Given the description of an element on the screen output the (x, y) to click on. 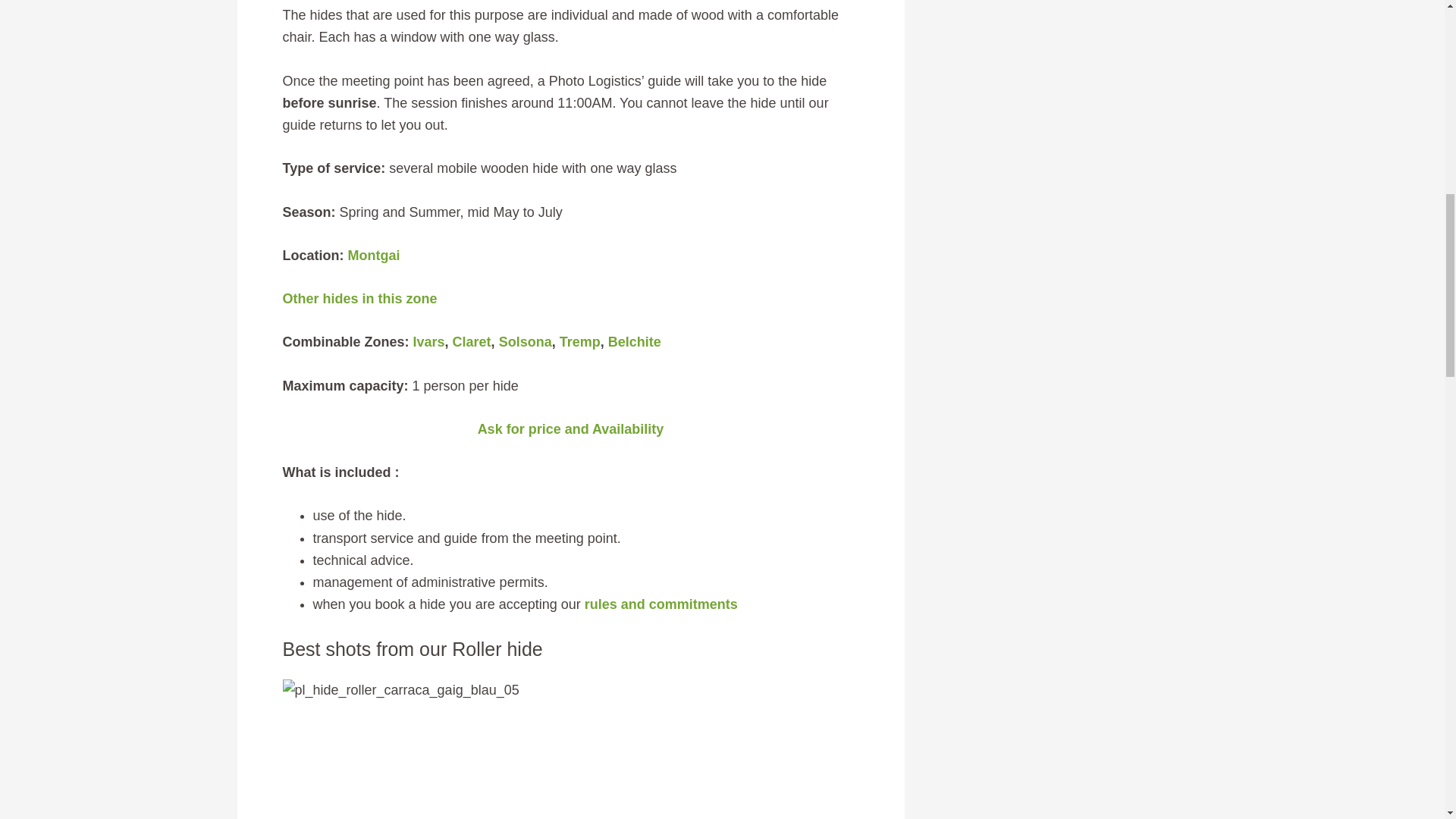
Ivars (429, 341)
Solsona (525, 341)
Montgai (373, 255)
rules and commitments (661, 604)
Tremp (579, 341)
Other hides in this zone (359, 298)
Ask for price and Availability (570, 428)
Claret (472, 341)
Belchite (634, 341)
